Given the description of an element on the screen output the (x, y) to click on. 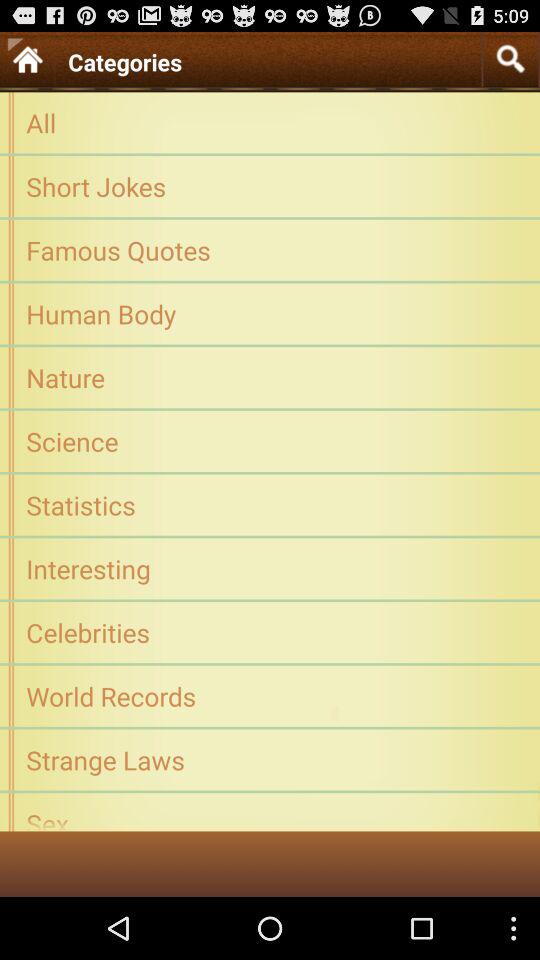
choose the icon below the all item (270, 185)
